Given the description of an element on the screen output the (x, y) to click on. 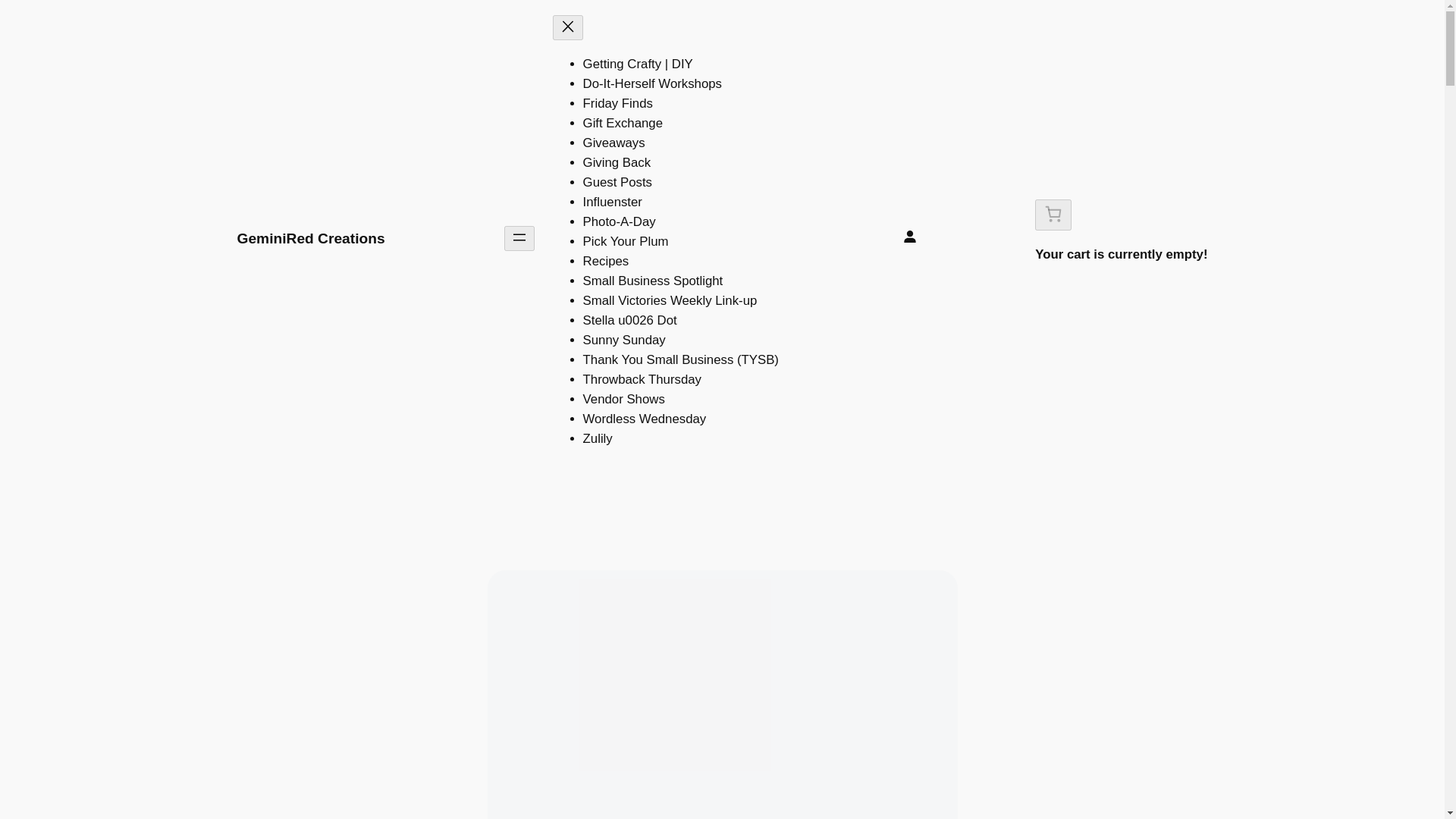
Sunny Sunday (624, 339)
Giving Back (616, 162)
Throwback Thursday (642, 379)
Recipes (605, 260)
Gift Exchange (622, 123)
Pick Your Plum (625, 241)
Do-It-Herself Workshops (652, 83)
Small Victories Weekly Link-up (670, 300)
Photo-A-Day (619, 221)
Small Business Spotlight (653, 280)
Giveaways (614, 142)
GeminiRed Creations (309, 238)
Zulily (597, 438)
Influenster (612, 201)
Friday Finds (617, 103)
